Given the description of an element on the screen output the (x, y) to click on. 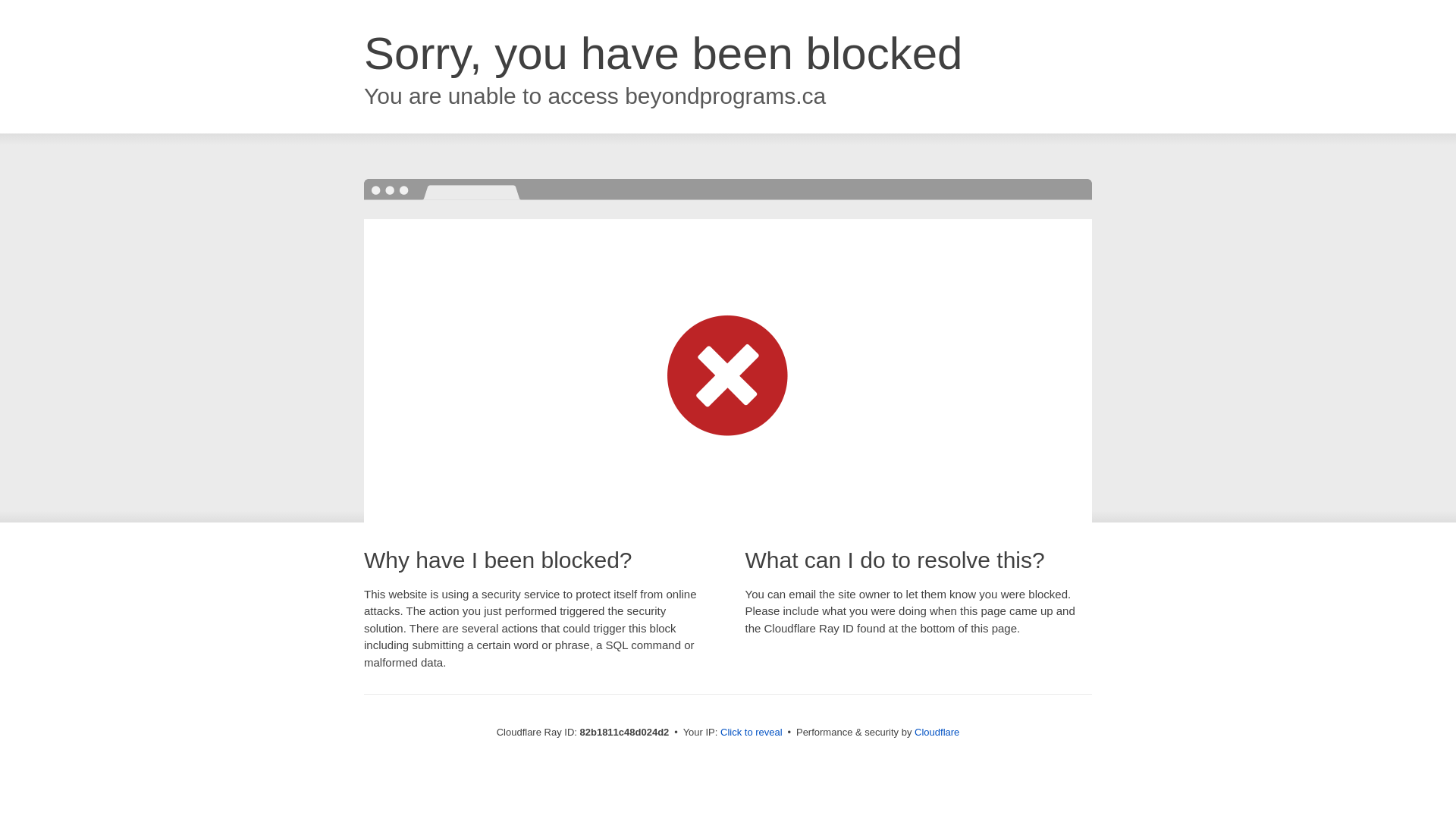
Cloudflare Element type: text (936, 731)
Click to reveal Element type: text (751, 732)
